Given the description of an element on the screen output the (x, y) to click on. 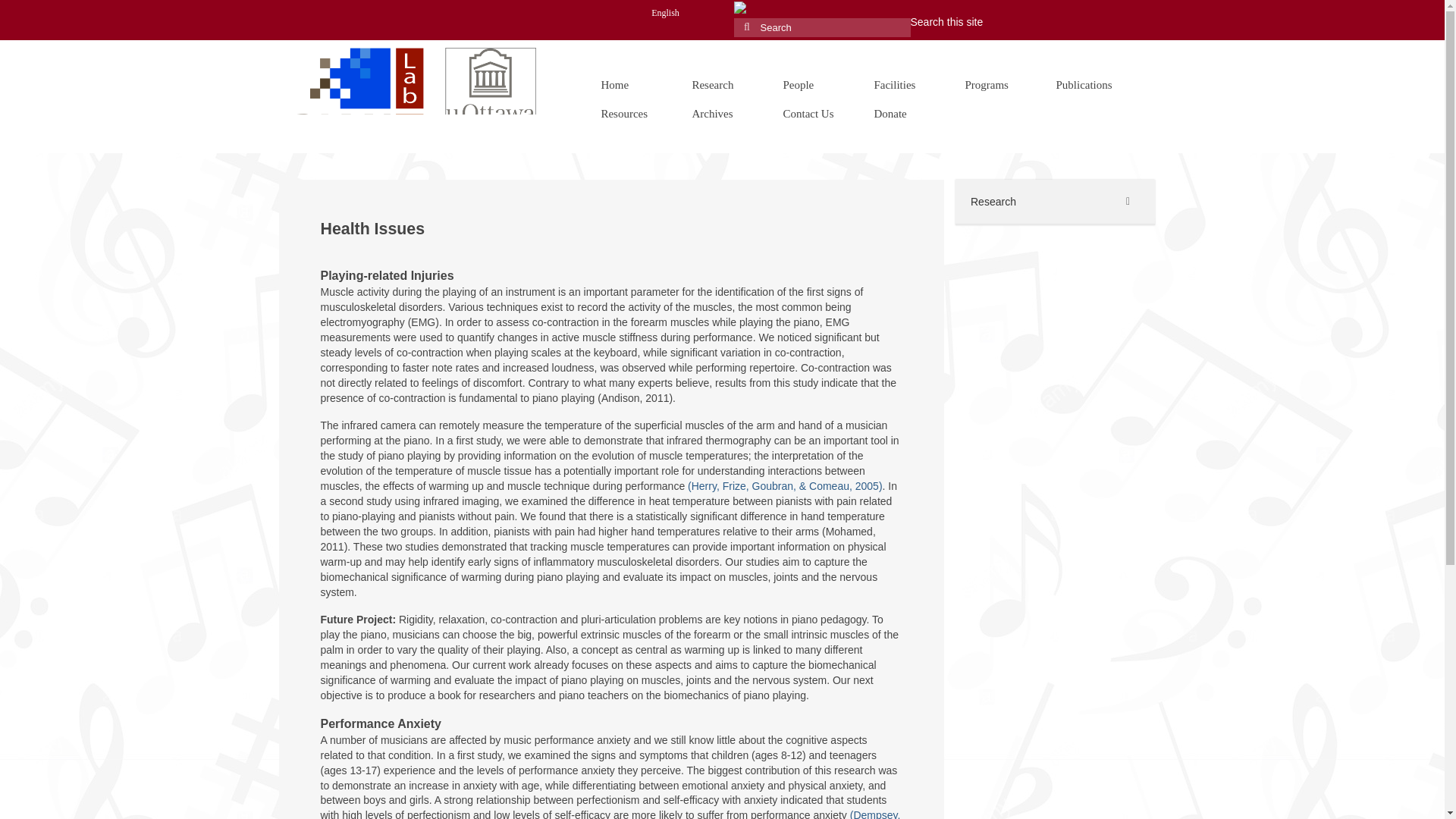
Home (631, 84)
Research (722, 84)
Publications (1086, 84)
Programs (995, 84)
English (665, 12)
Facilities (904, 84)
People (813, 84)
